Given the description of an element on the screen output the (x, y) to click on. 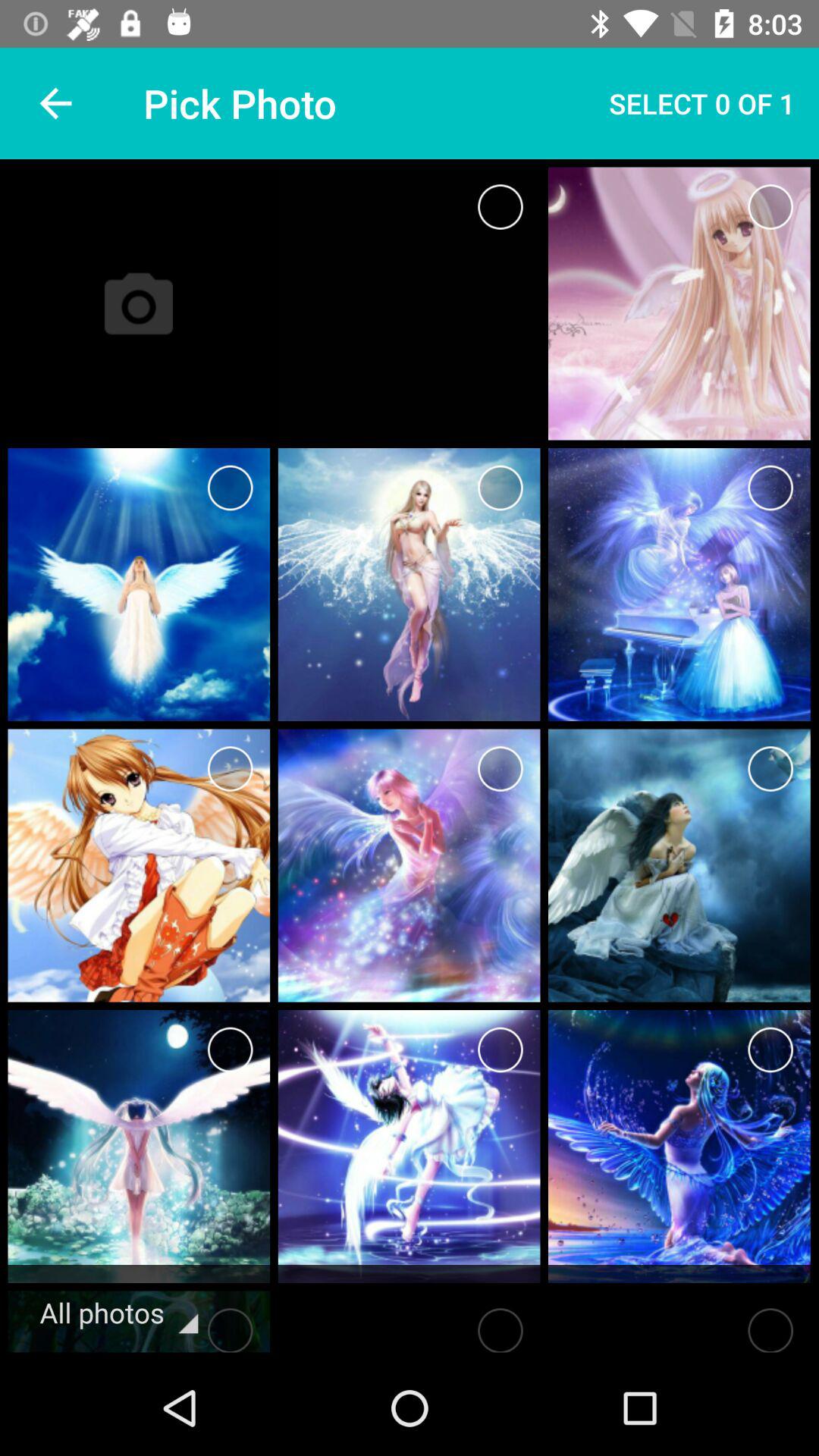
radio button to select (230, 487)
